Given the description of an element on the screen output the (x, y) to click on. 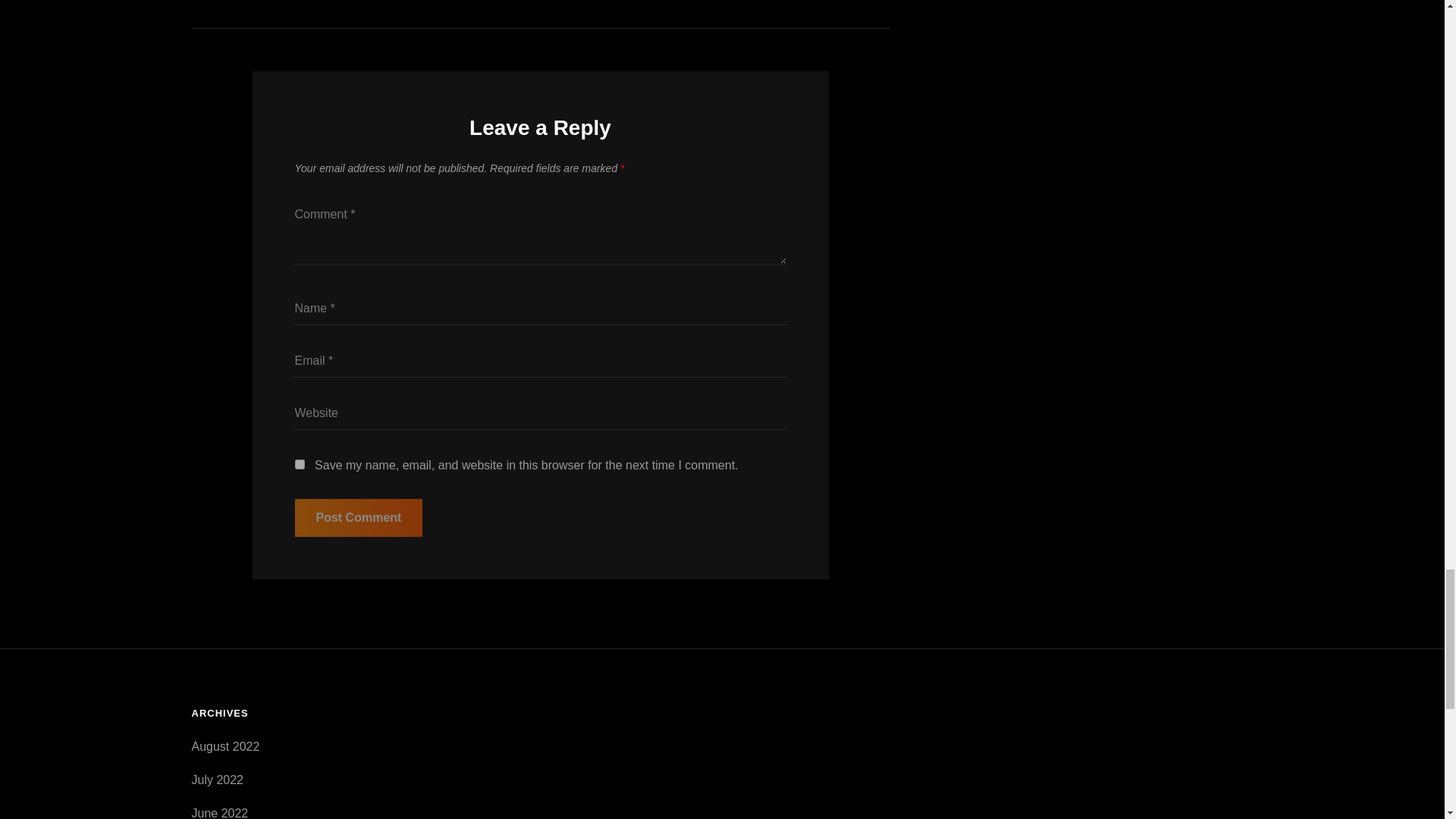
August 2022 (224, 746)
June 2022 (218, 812)
Post Comment (358, 517)
Post Comment (358, 517)
July 2022 (216, 779)
yes (299, 464)
